Given the description of an element on the screen output the (x, y) to click on. 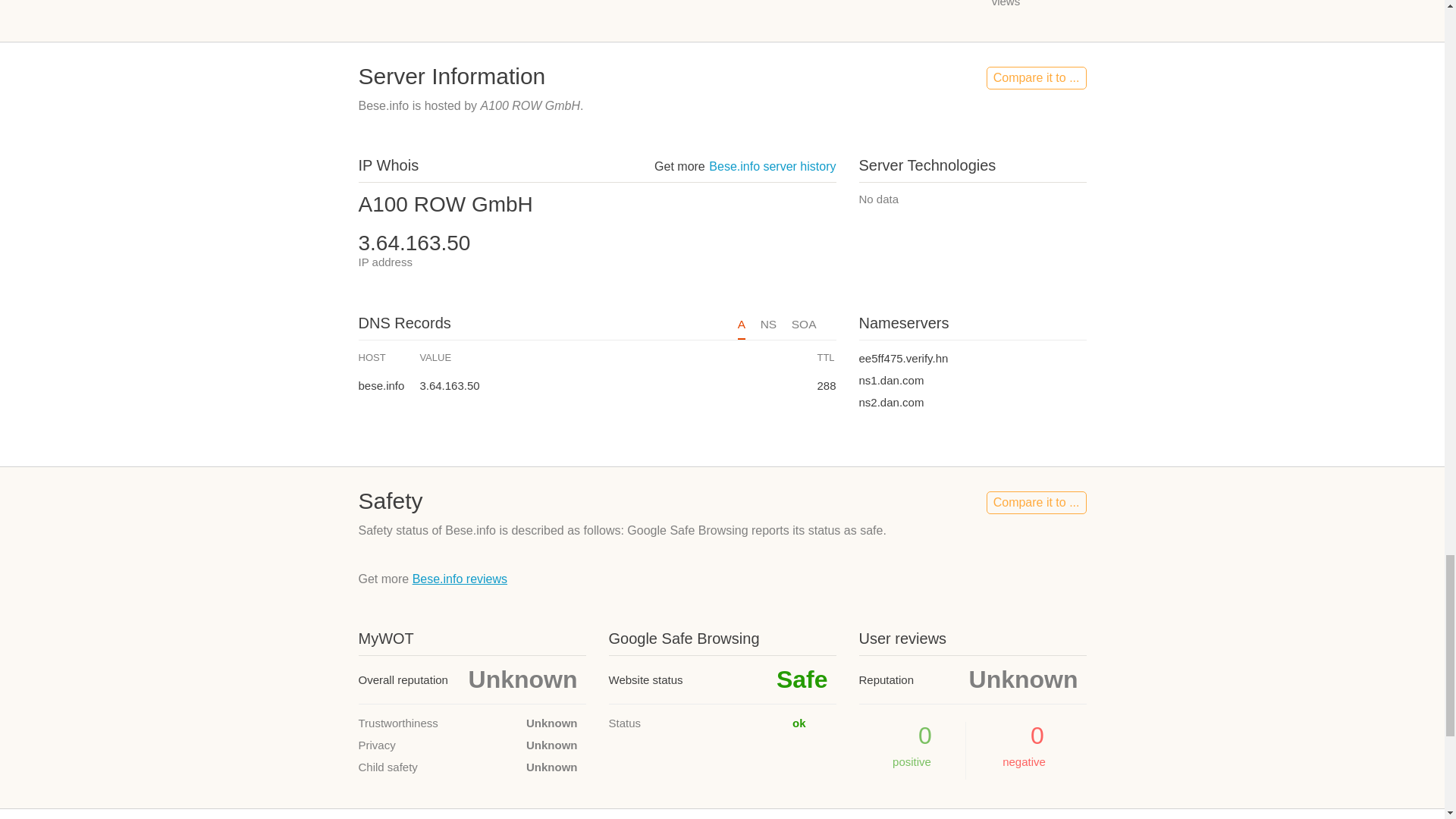
Compare it to ... (1036, 77)
